Given the description of an element on the screen output the (x, y) to click on. 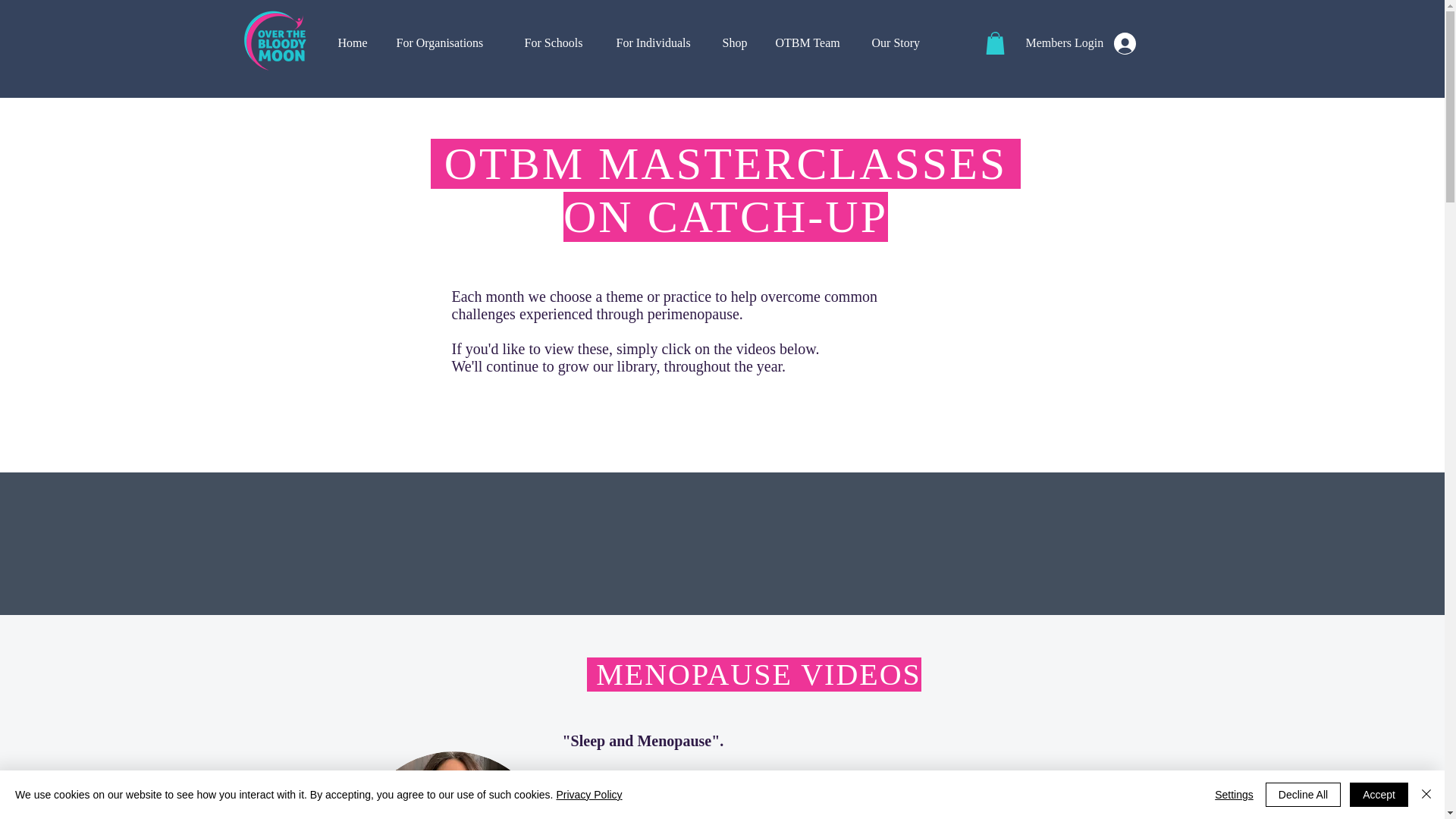
Shop (737, 43)
For Individuals (658, 43)
OTBM Team (812, 43)
For Organisations (449, 43)
Members Login (1080, 42)
Home (355, 43)
Our Story (899, 43)
For Schools (558, 43)
